Given the description of an element on the screen output the (x, y) to click on. 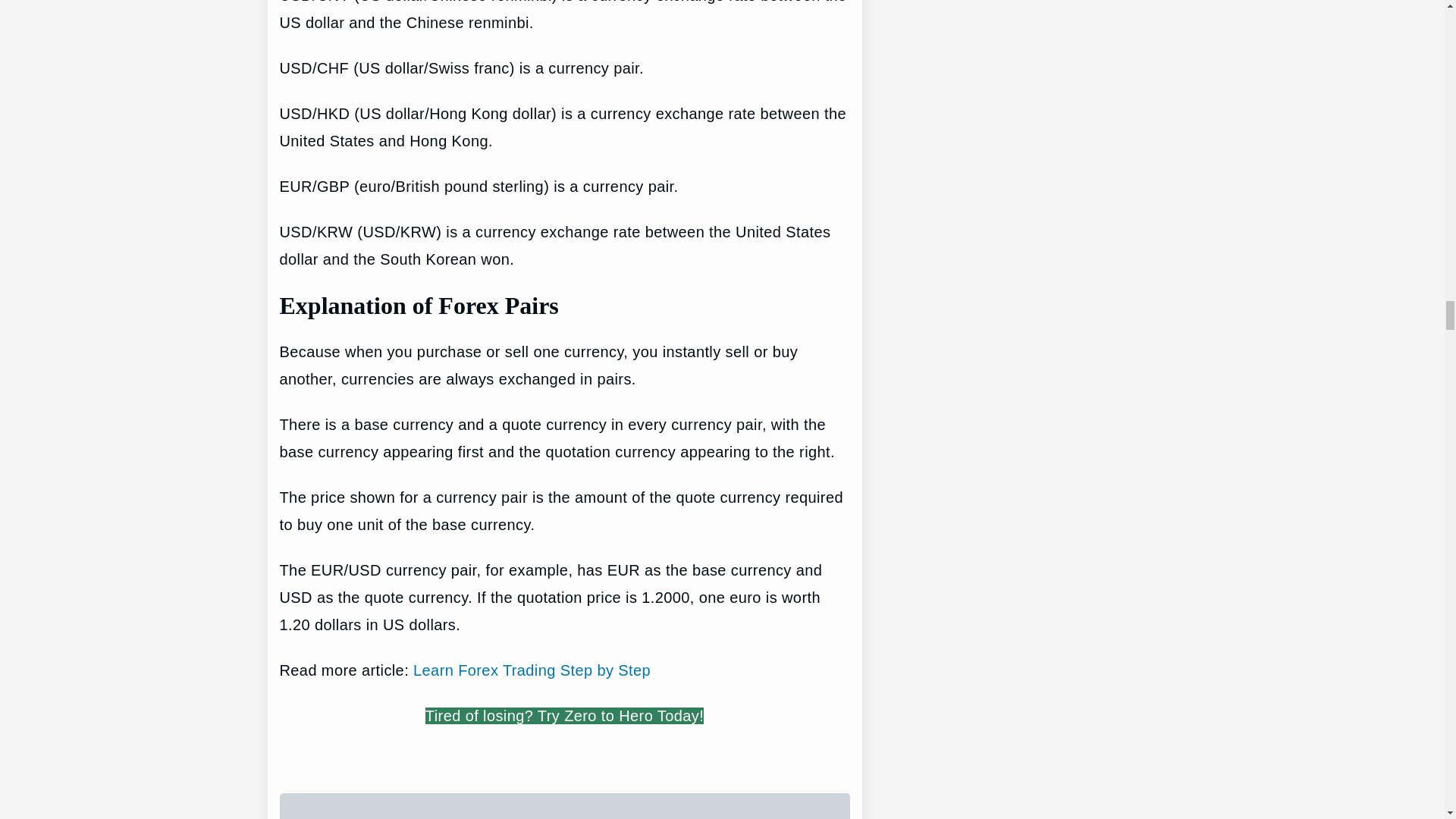
Tired of losing? Try Zero to Hero Today! (564, 715)
Learn Forex Trading Step by Step (531, 669)
